Given the description of an element on the screen output the (x, y) to click on. 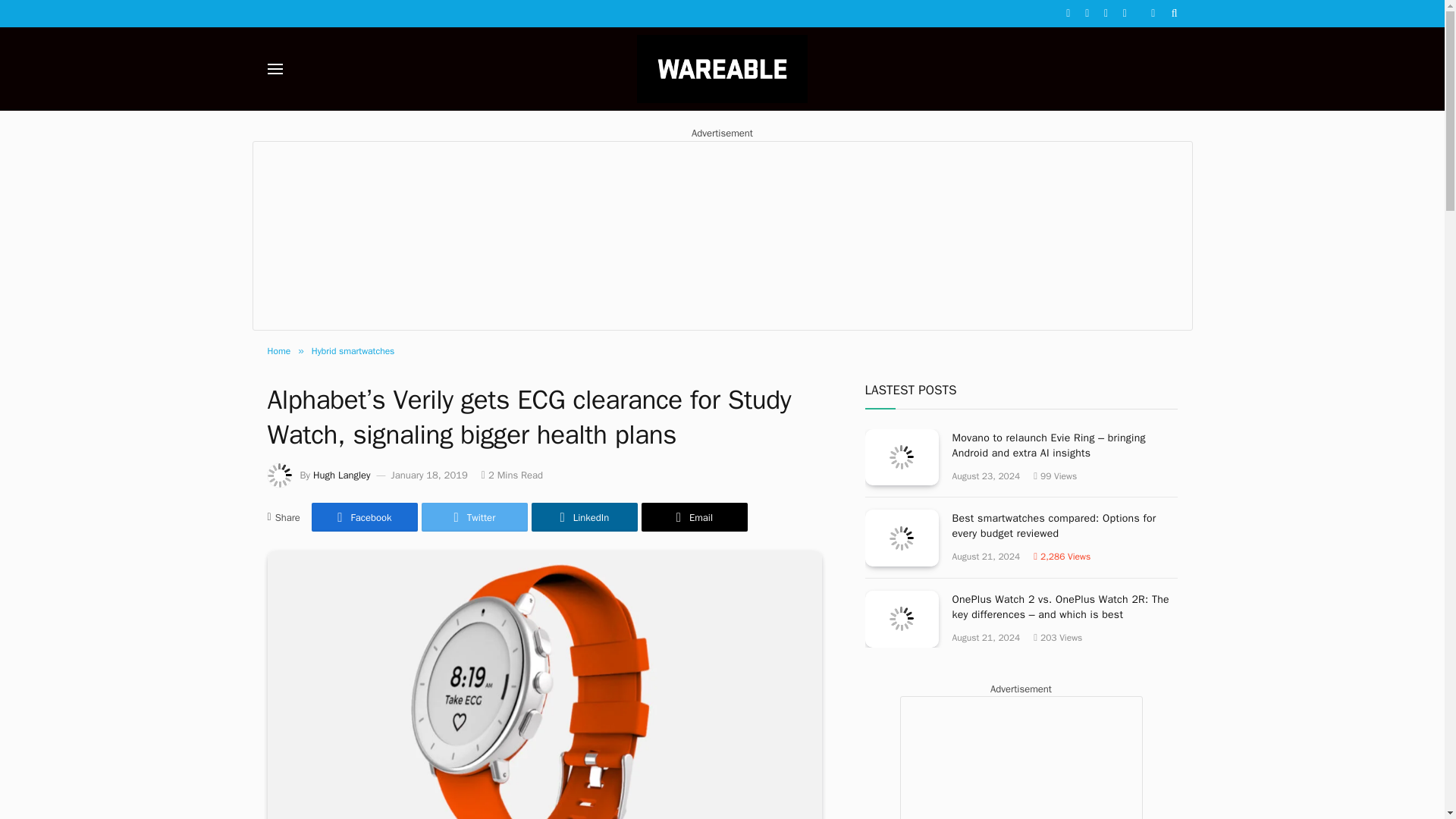
Share on Facebook (364, 516)
Share on LinkedIn (584, 516)
Home (277, 350)
LinkedIn (584, 516)
Hybrid smartwatches (352, 350)
Email (695, 516)
Hugh Langley (342, 474)
Twitter (474, 516)
Posts by Hugh Langley (342, 474)
Wareable (722, 68)
